Given the description of an element on the screen output the (x, y) to click on. 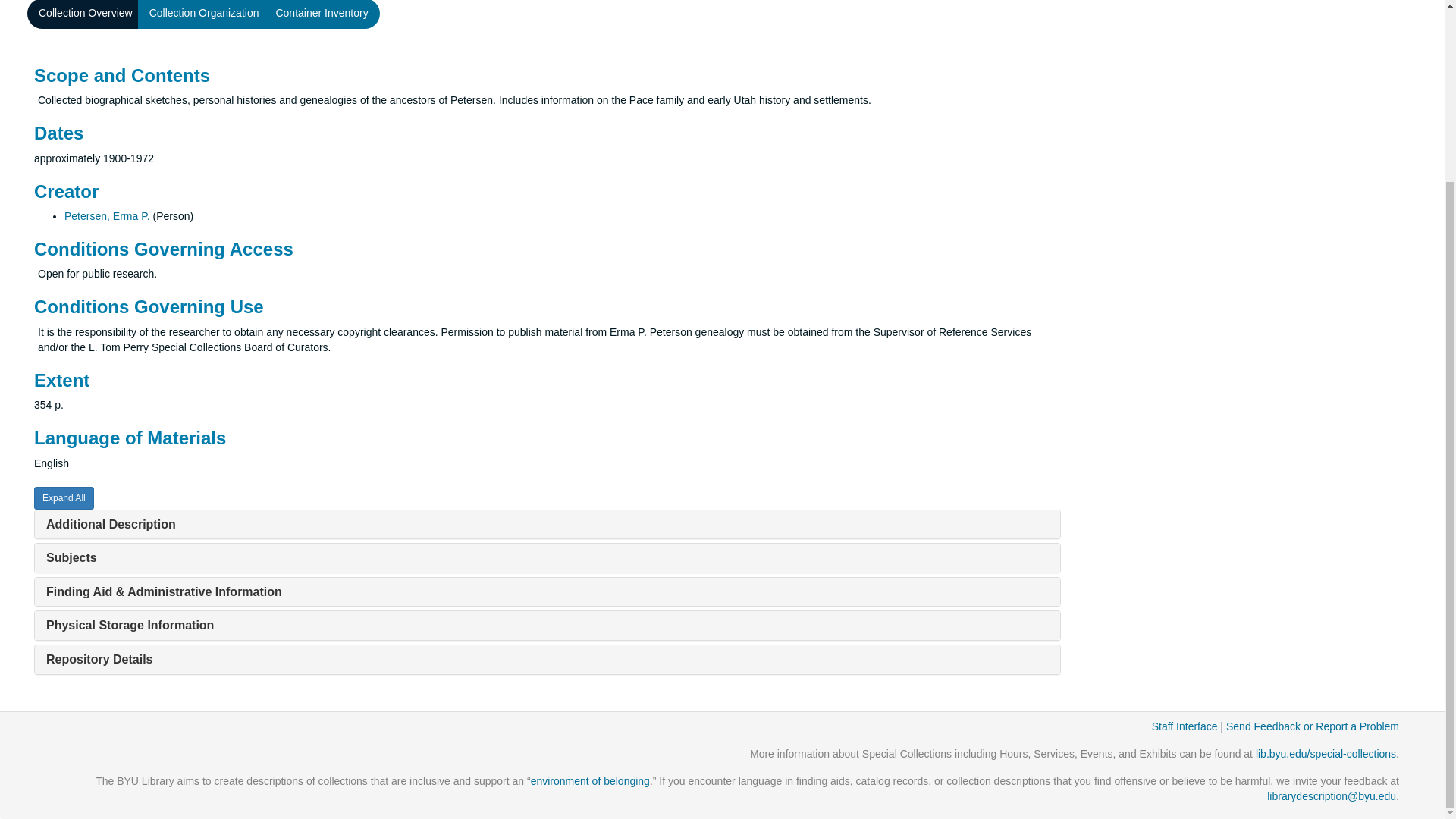
Additional Description (111, 523)
Subjects (71, 557)
Collection Overview (85, 14)
Collection Organization (204, 14)
Repository Details (99, 658)
Expand All (63, 497)
Physical Storage Information (130, 625)
Container Inventory (320, 14)
Petersen, Erma P. (106, 215)
